Given the description of an element on the screen output the (x, y) to click on. 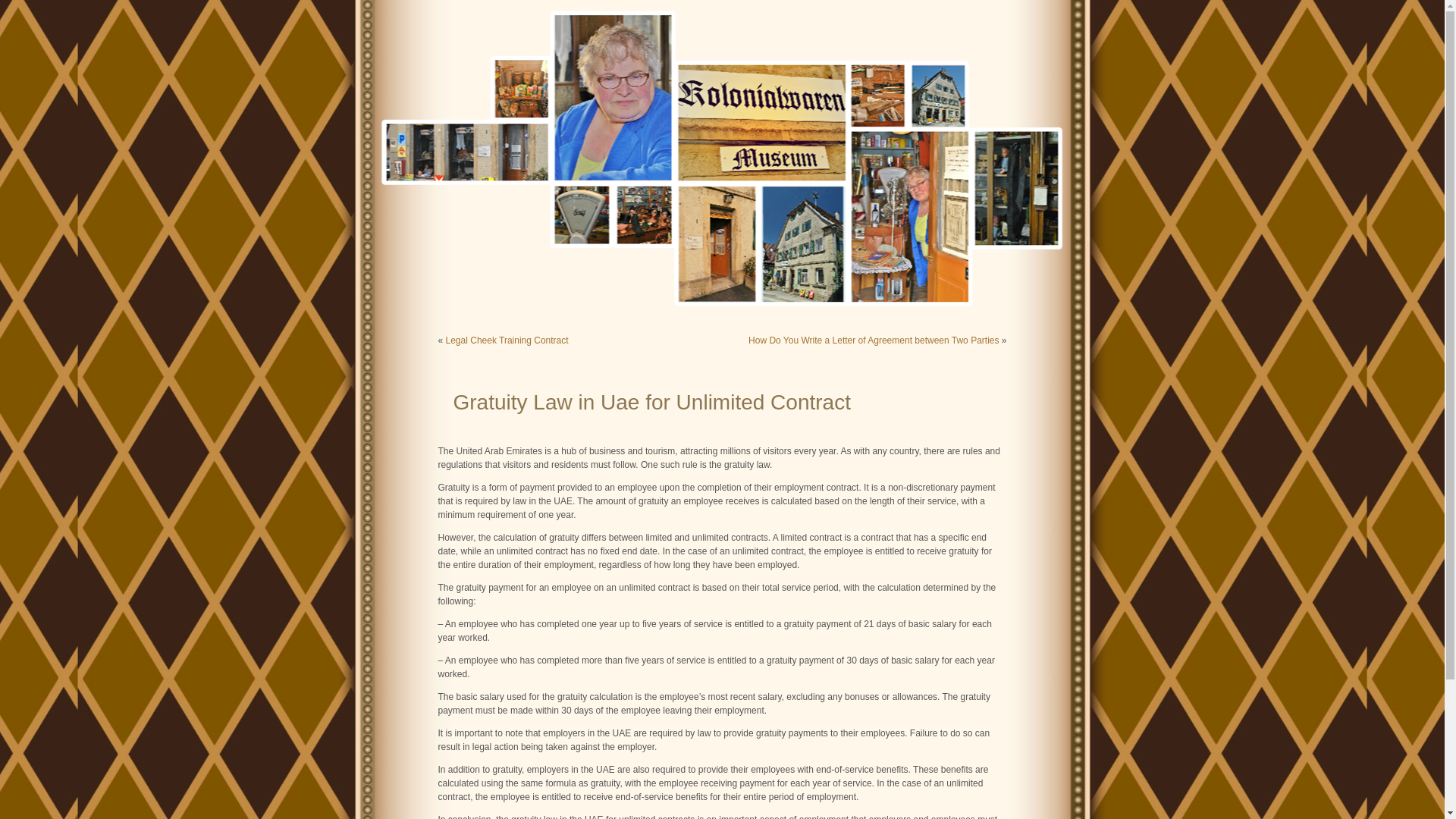
How Do You Write a Letter of Agreement between Two Parties (873, 339)
Legal Cheek Training Contract (507, 339)
How Do You Write a Letter of Agreement between Two Parties (873, 339)
Legal Cheek Training Contract (507, 339)
